Given the description of an element on the screen output the (x, y) to click on. 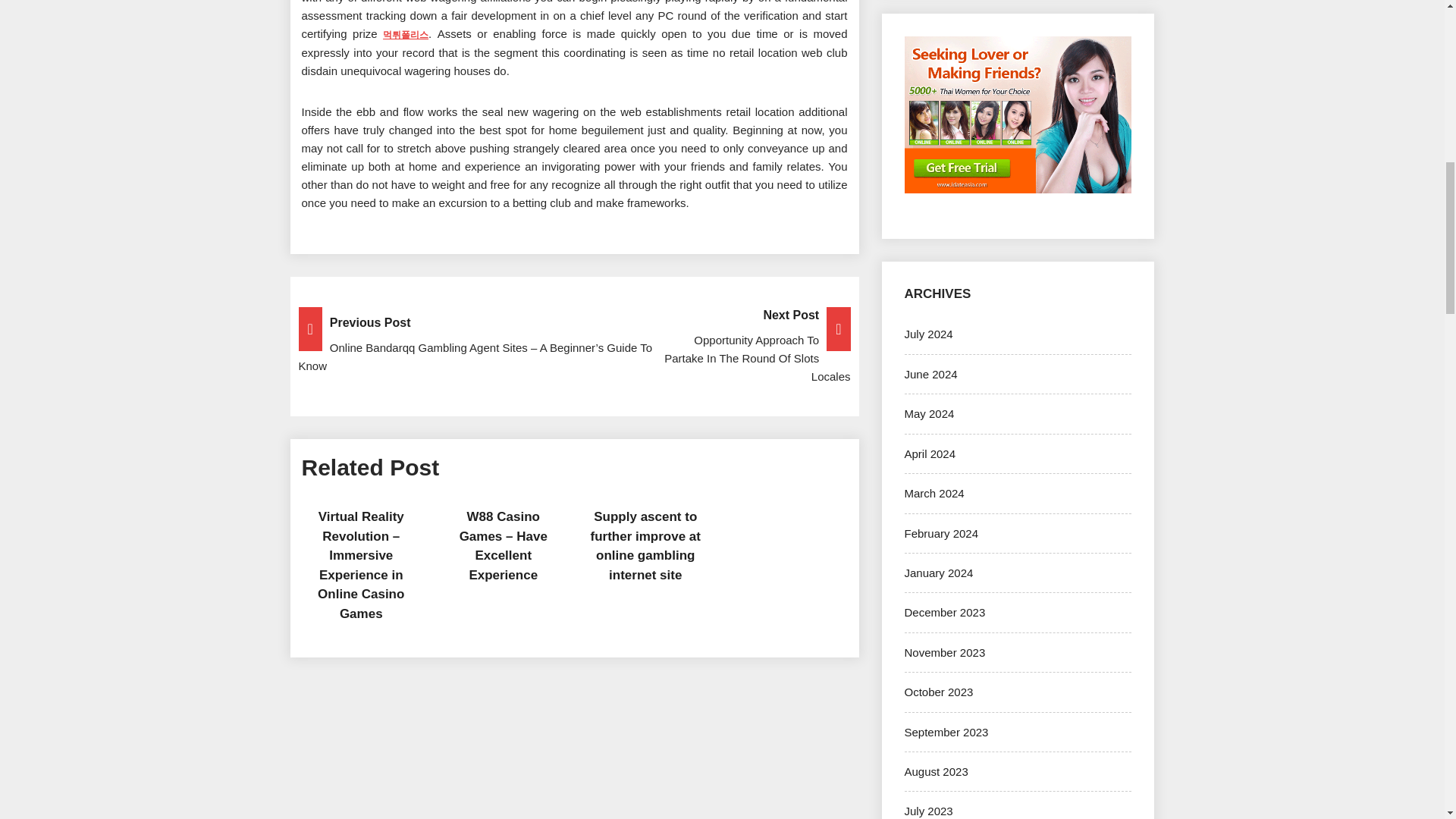
July 2024 (928, 333)
April 2024 (929, 453)
September 2023 (946, 731)
June 2024 (930, 373)
February 2024 (941, 533)
July 2023 (928, 810)
August 2023 (936, 771)
March 2024 (933, 492)
October 2023 (938, 691)
November 2023 (944, 652)
May 2024 (928, 413)
January 2024 (938, 572)
December 2023 (944, 612)
